Given the description of an element on the screen output the (x, y) to click on. 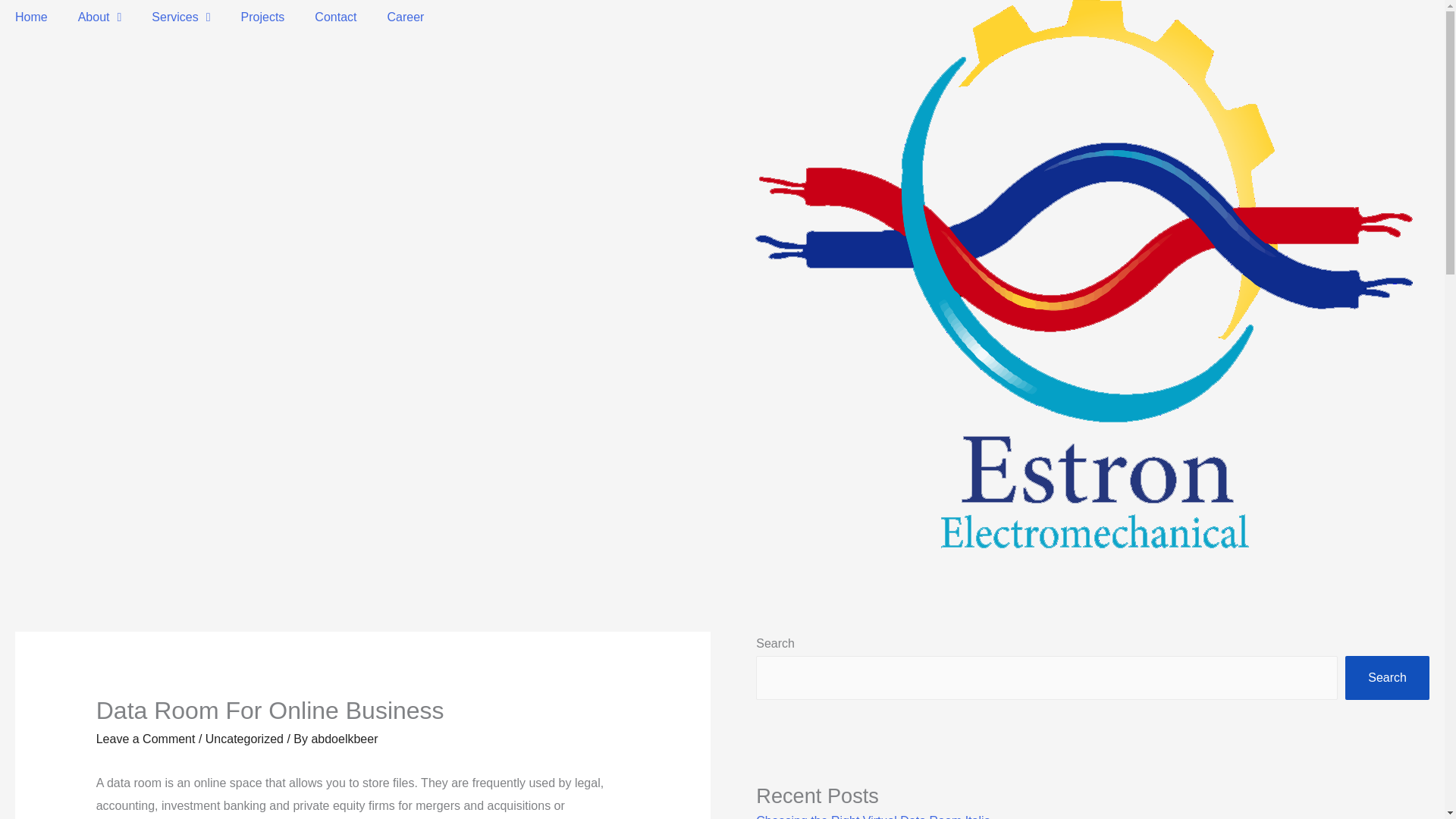
Home (31, 17)
Contact (335, 17)
Career (405, 17)
Choosing the Right Virtual Data Room Italia (872, 816)
About (99, 17)
Leave a Comment (145, 738)
Services (180, 17)
abdoelkbeer (344, 738)
Search (1387, 678)
View all posts by abdoelkbeer (344, 738)
Projects (262, 17)
